Given the description of an element on the screen output the (x, y) to click on. 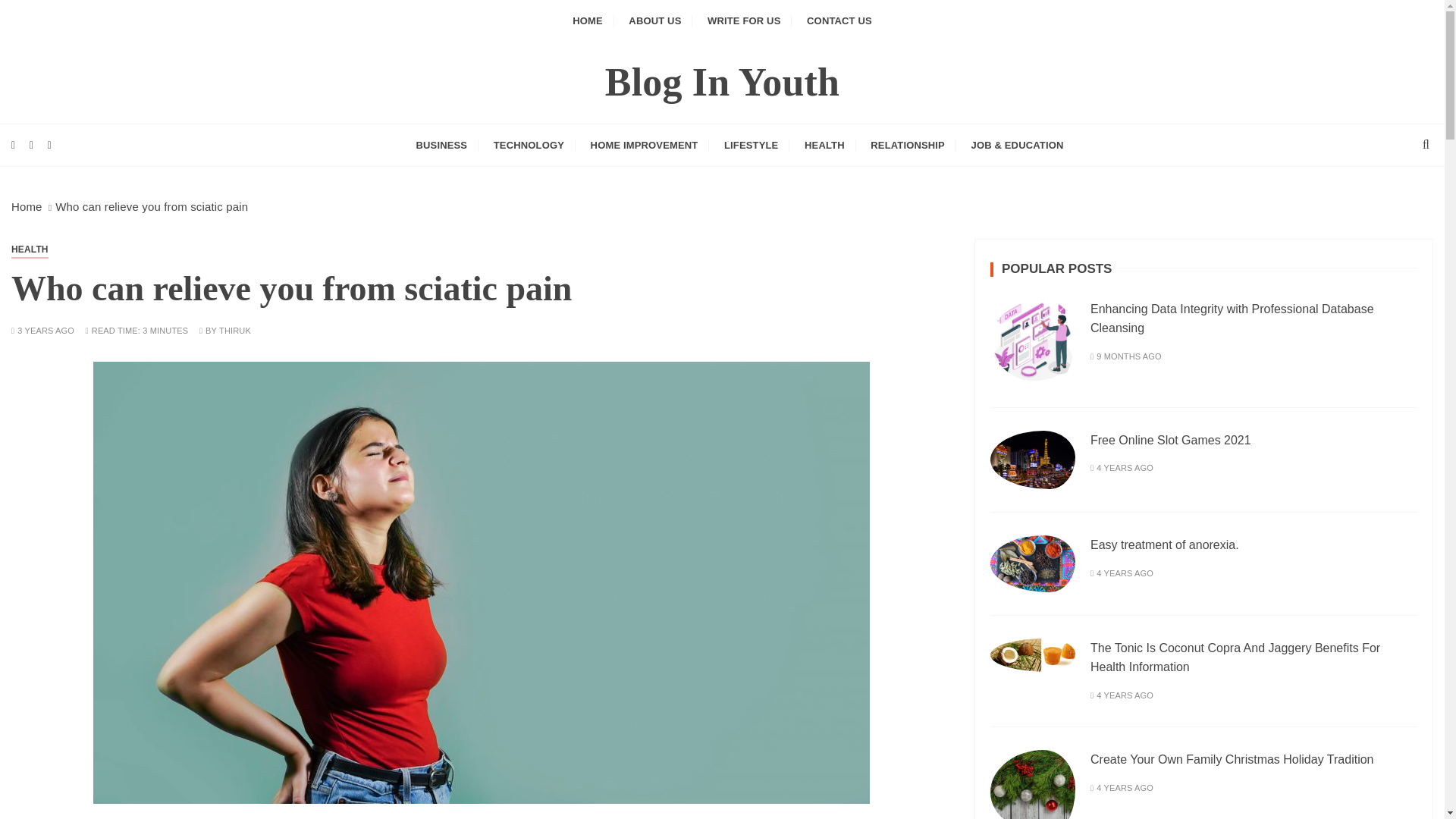
HOME (587, 20)
RELATIONSHIP (907, 145)
Blog In Youth (722, 82)
Who can relieve you from sciatic pain (151, 205)
HEALTH (824, 145)
Home (26, 205)
BUSINESS (441, 145)
WRITE FOR US (743, 20)
HEALTH (29, 249)
CONTACT US (838, 20)
